Given the description of an element on the screen output the (x, y) to click on. 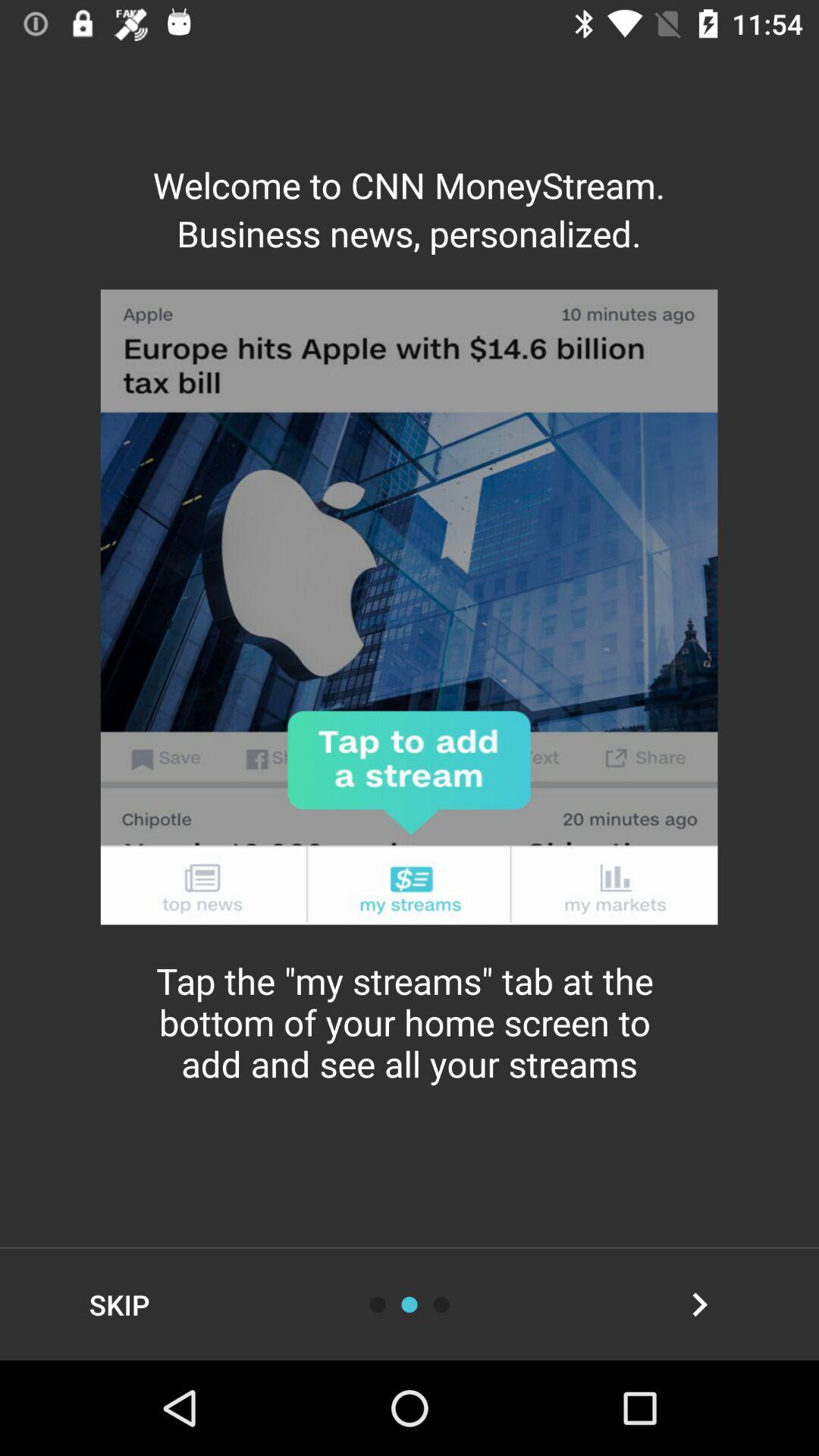
swipe to right (441, 1304)
